Given the description of an element on the screen output the (x, y) to click on. 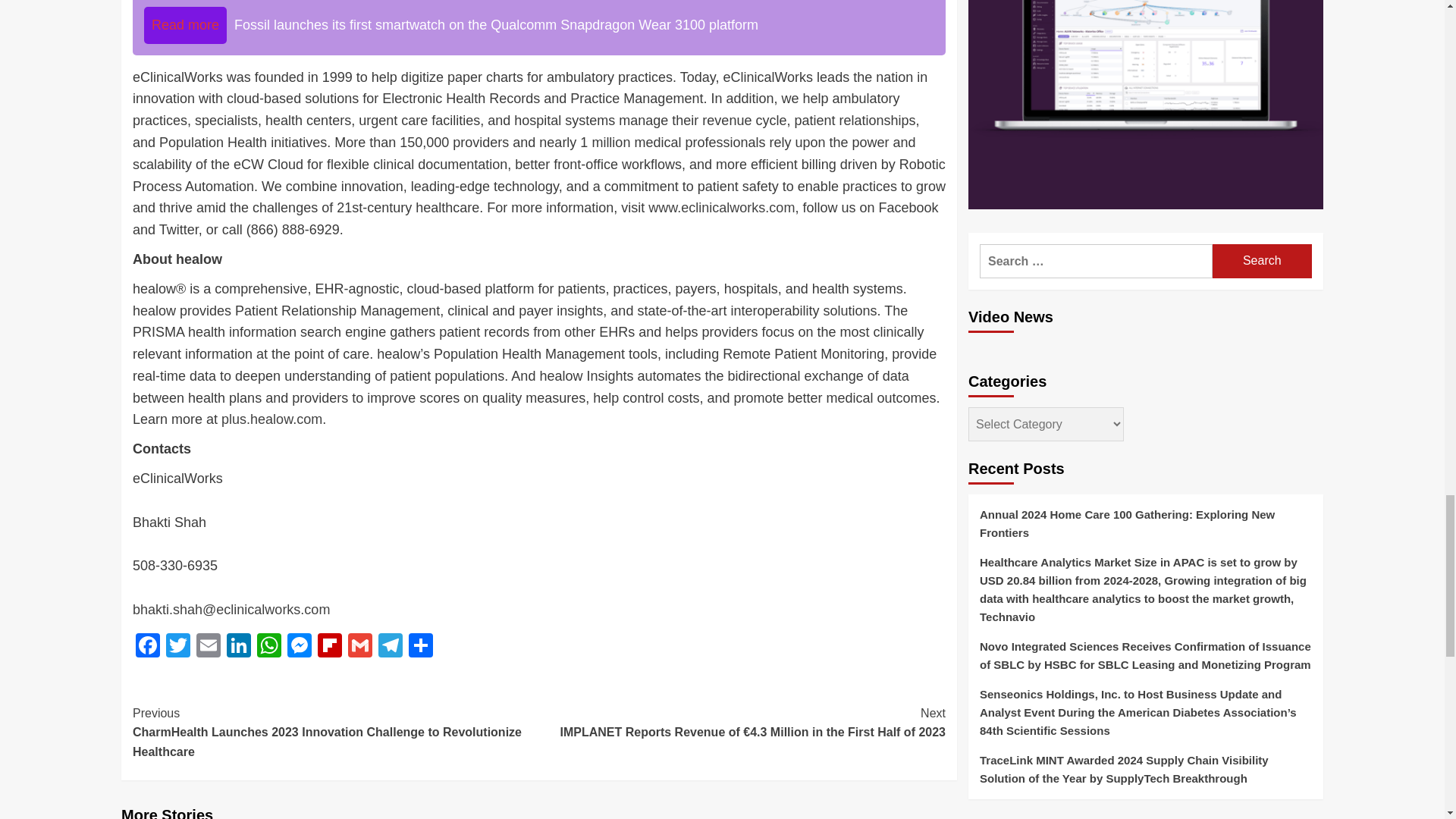
Twitter (178, 646)
WhatsApp (268, 646)
LinkedIn (238, 646)
Email (208, 646)
Facebook (147, 646)
Flipboard (329, 646)
Messenger (298, 646)
